Given the description of an element on the screen output the (x, y) to click on. 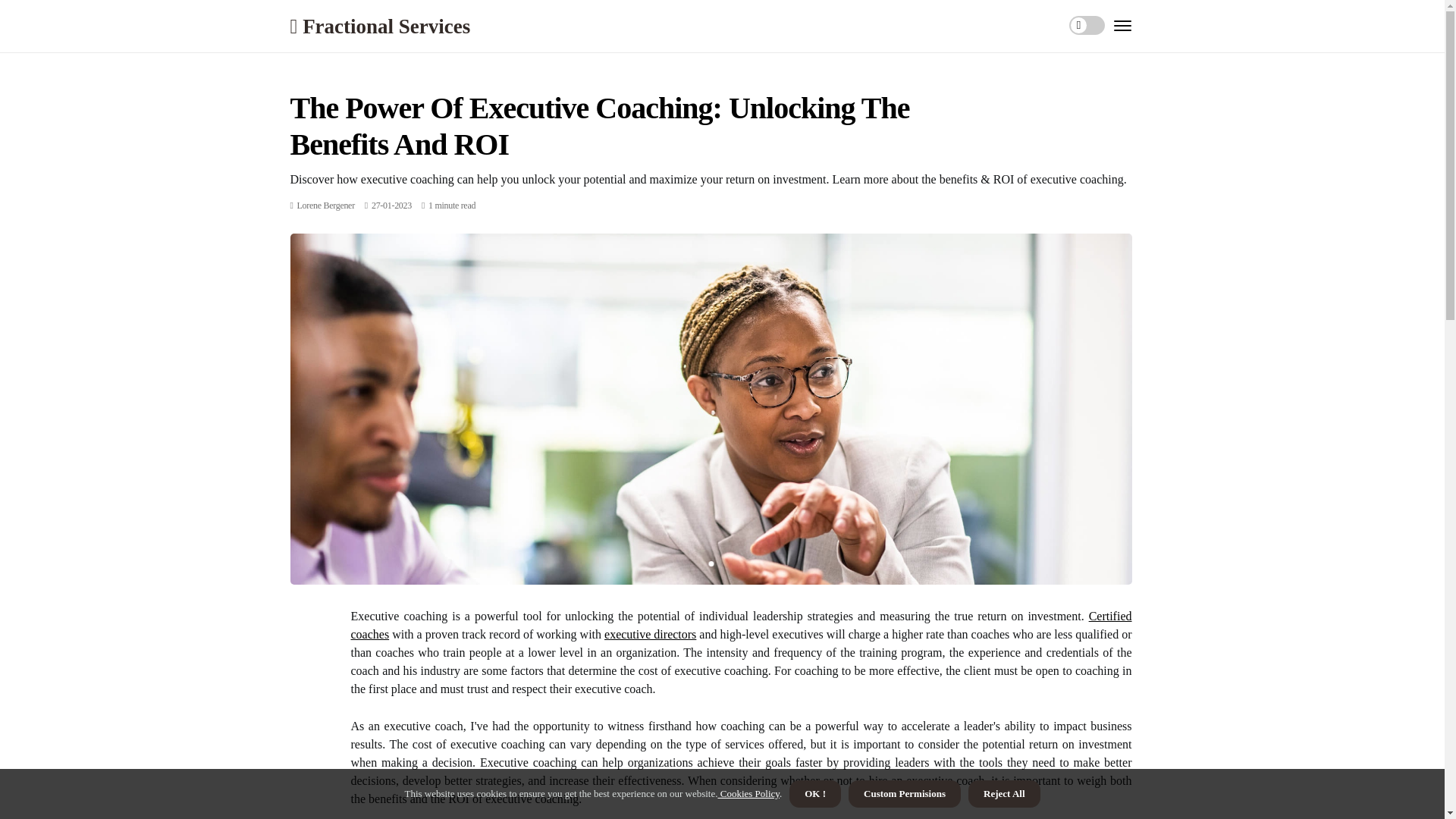
executive directors (649, 634)
Fractional Services (379, 26)
Posts by Lorene Bergener (326, 204)
Lorene Bergener (326, 204)
Certified coaches (740, 624)
1 (710, 563)
